Given the description of an element on the screen output the (x, y) to click on. 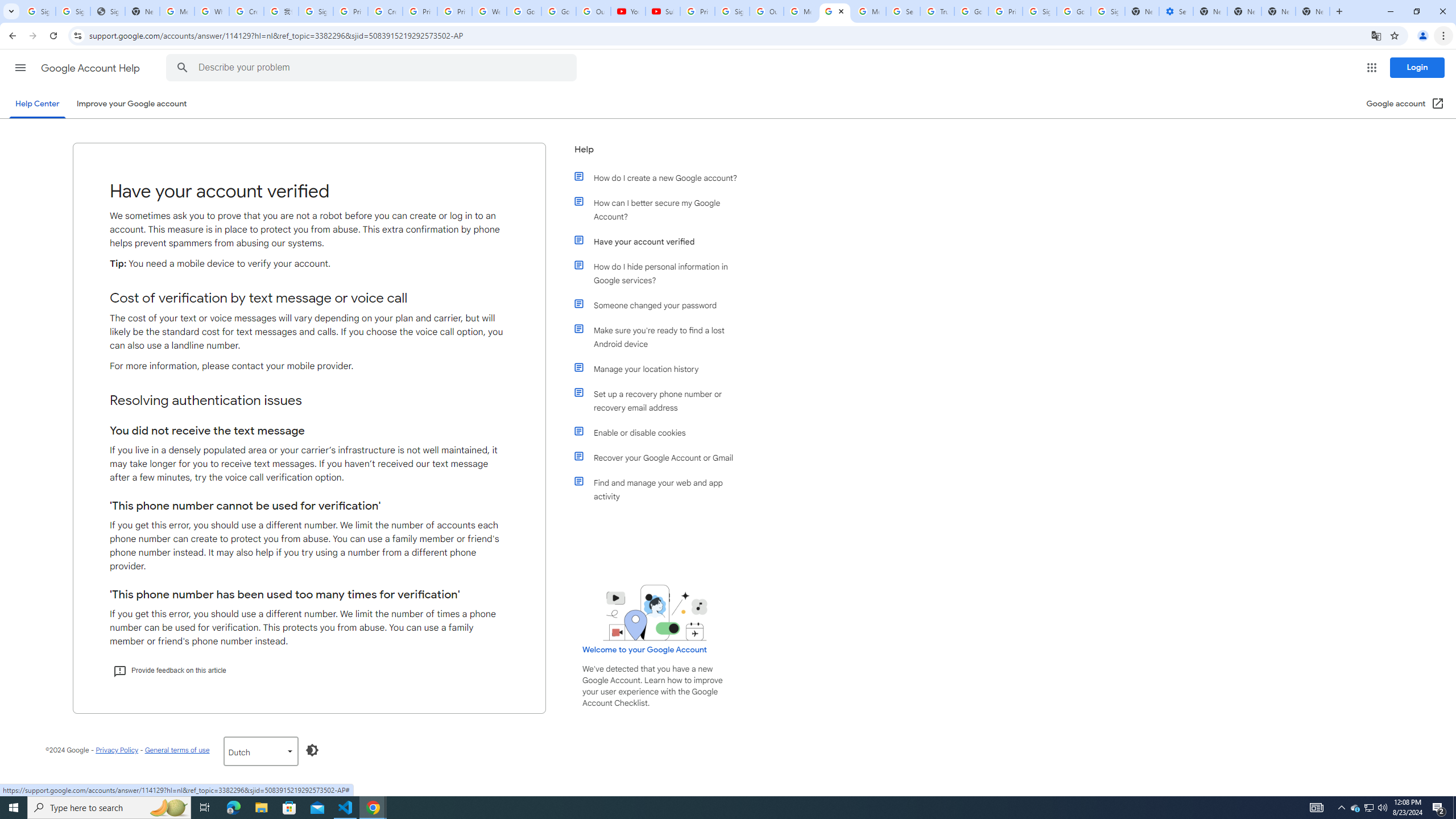
General terms of use (176, 749)
Search our Doodle Library Collection - Google Doodles (903, 11)
Provide feedback on this article (169, 670)
Search the Help Center (181, 67)
Sign in - Google Accounts (73, 11)
Translate this page (1376, 35)
Manage your location history (661, 368)
Get your account verified - Google Account Help (834, 11)
Have your account verified (661, 241)
